Given the description of an element on the screen output the (x, y) to click on. 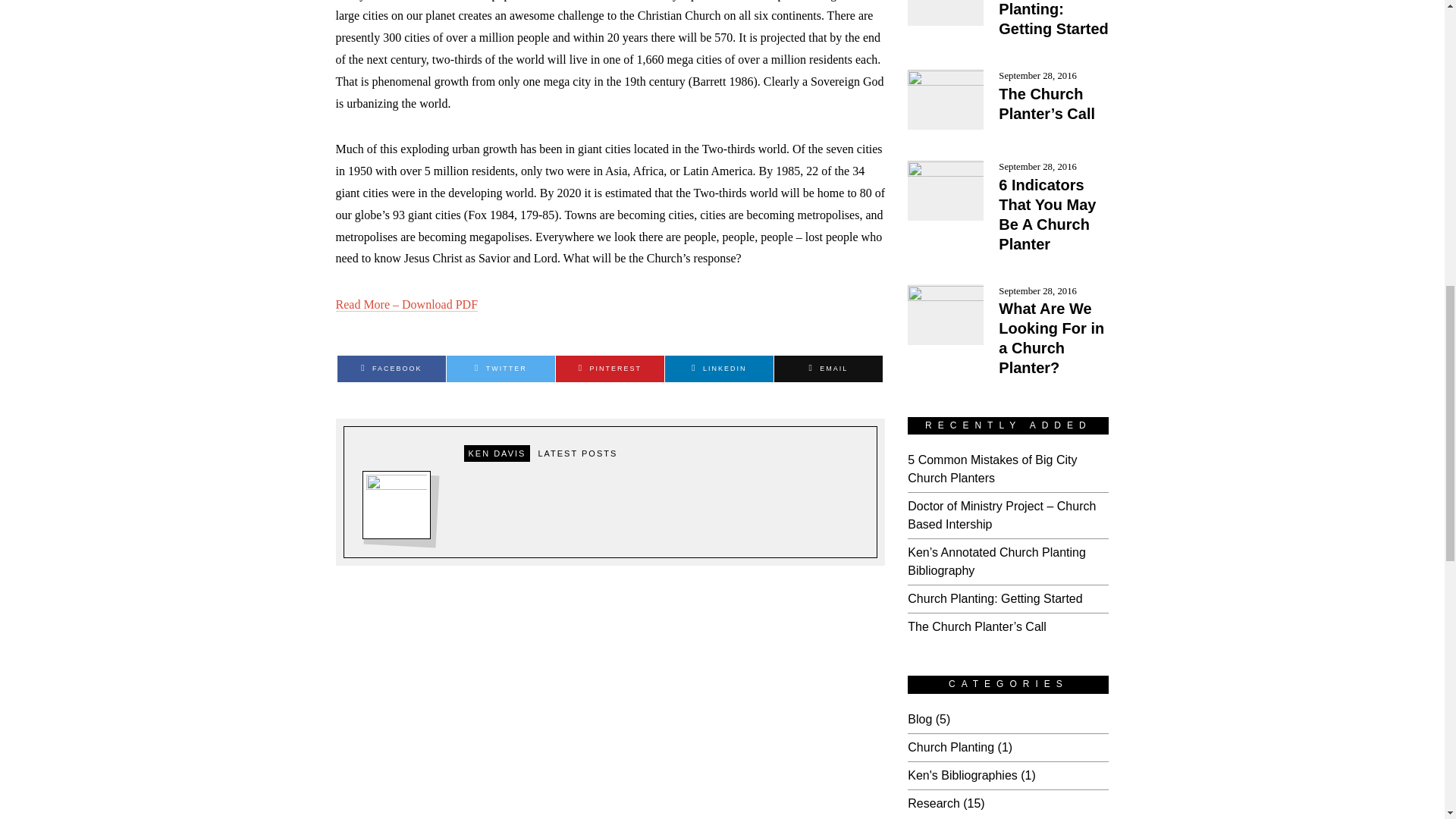
Linkedin (719, 368)
EMAIL (828, 368)
Email (828, 368)
FACEBOOK (391, 368)
Twitter (500, 368)
LATEST POSTS (576, 453)
PINTEREST (609, 368)
KEN DAVIS (497, 453)
Pinterest (609, 368)
Church Planting: Getting Started (1053, 18)
